Given the description of an element on the screen output the (x, y) to click on. 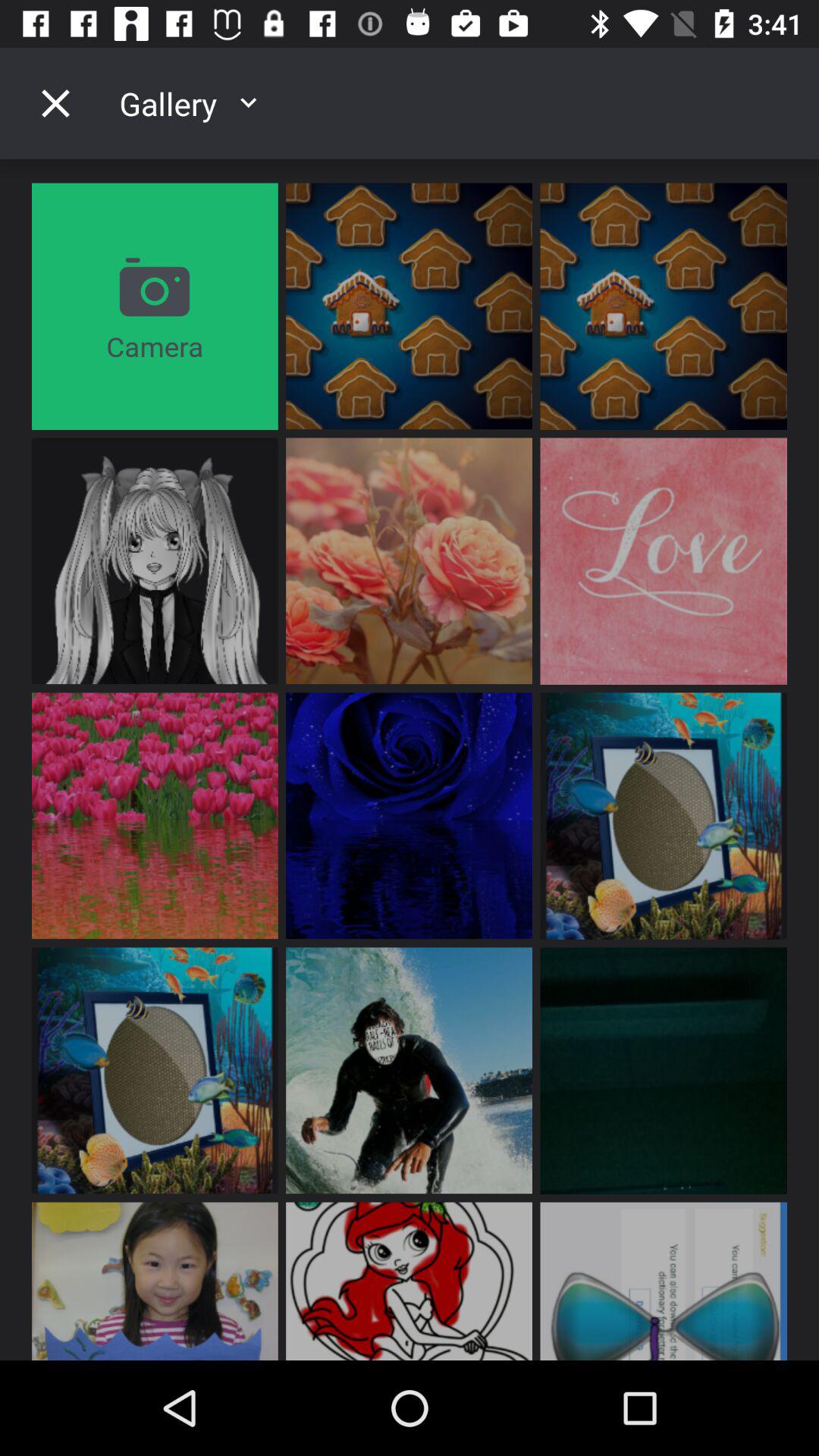
click on the bottom left corner image (154, 1280)
click on the image which is third row first box (154, 816)
click the second image from the bottom row (408, 1280)
select the second image in the fourth vertical of the page (408, 1070)
select the third image on the which is on the right side of the  fourth vertical of the page (663, 1070)
